Given the description of an element on the screen output the (x, y) to click on. 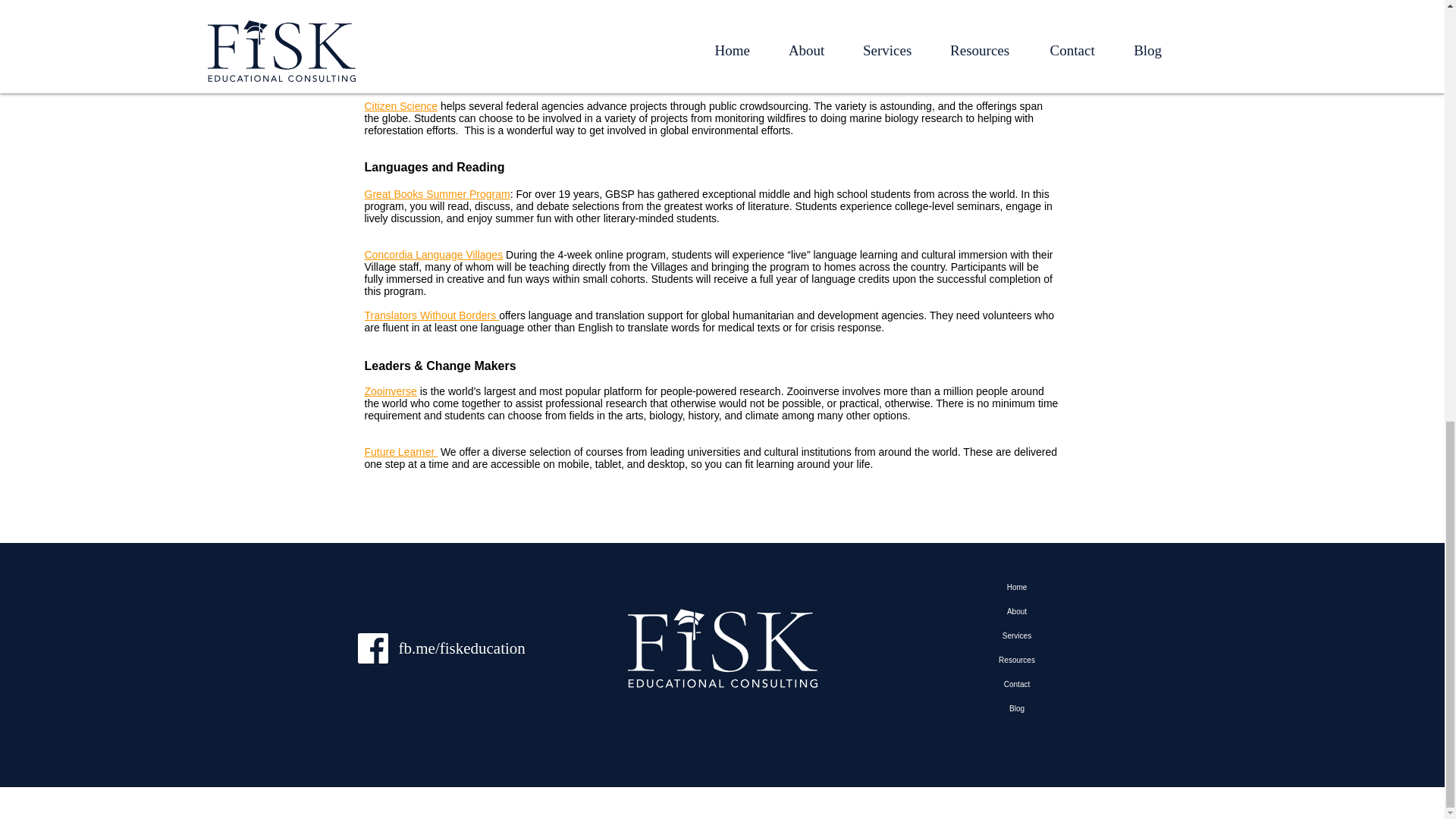
Translators Without Borders (430, 315)
Zooinverse (390, 390)
Citizen Science (401, 105)
Concordia Language Villages (433, 254)
Future Learn (394, 451)
Great Books Summer Program (436, 193)
UPchieve (386, 9)
